Given the description of an element on the screen output the (x, y) to click on. 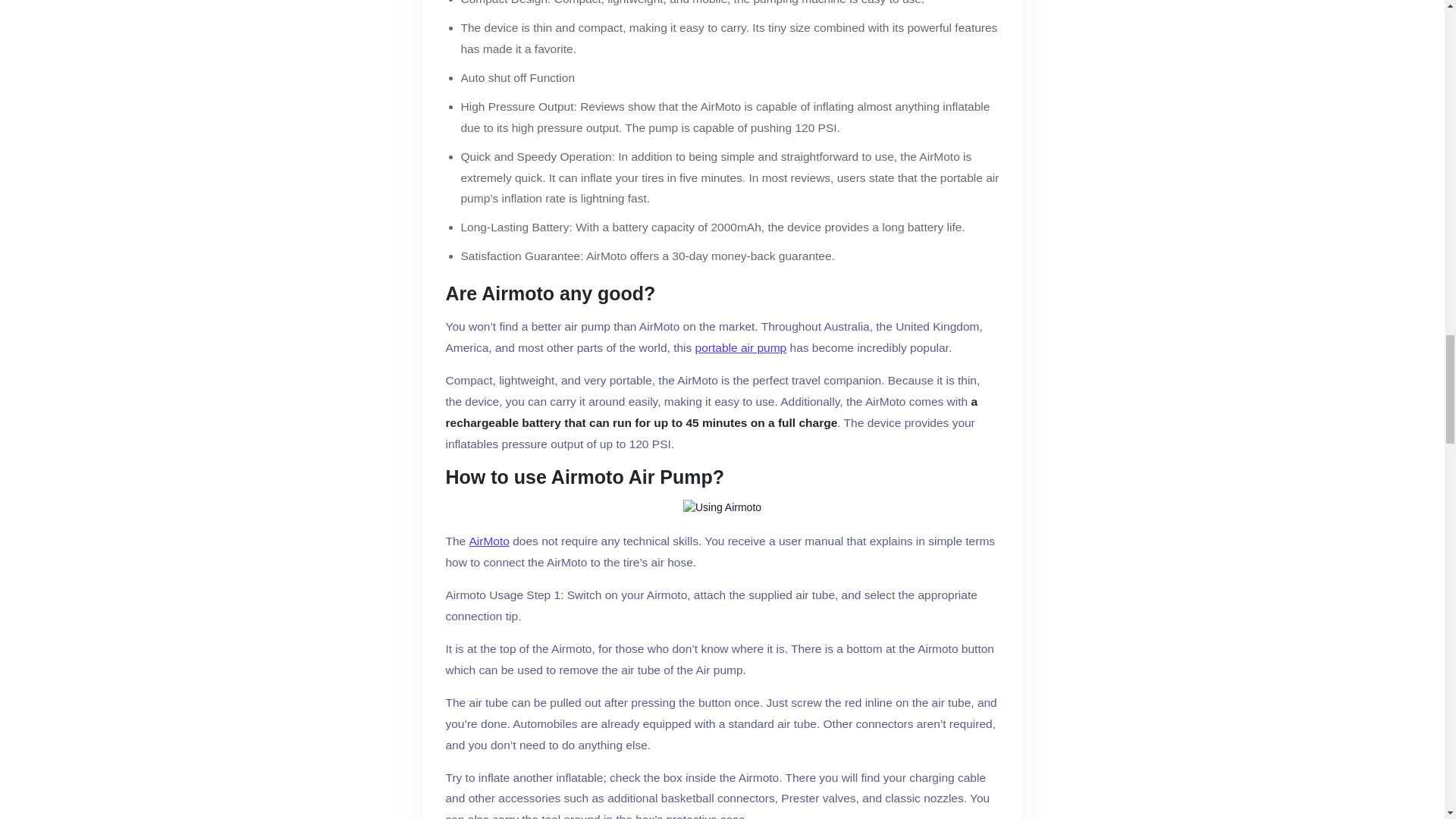
AirMoto (488, 541)
portable air pump (741, 347)
